Given the description of an element on the screen output the (x, y) to click on. 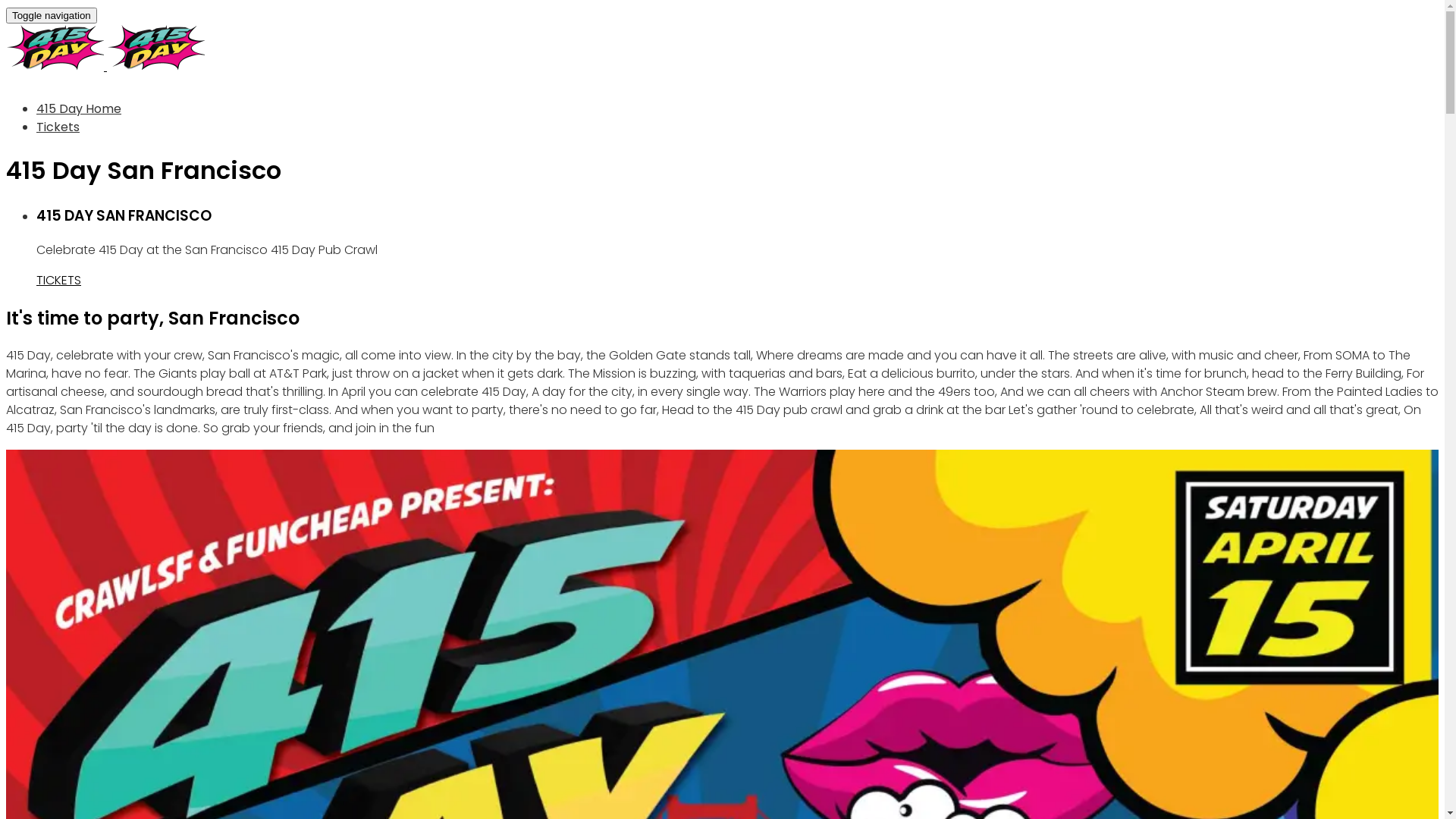
TICKETS Element type: text (58, 279)
Tickets Element type: text (57, 126)
415 Day Home Element type: text (78, 108)
Toggle navigation Element type: text (51, 15)
